Given the description of an element on the screen output the (x, y) to click on. 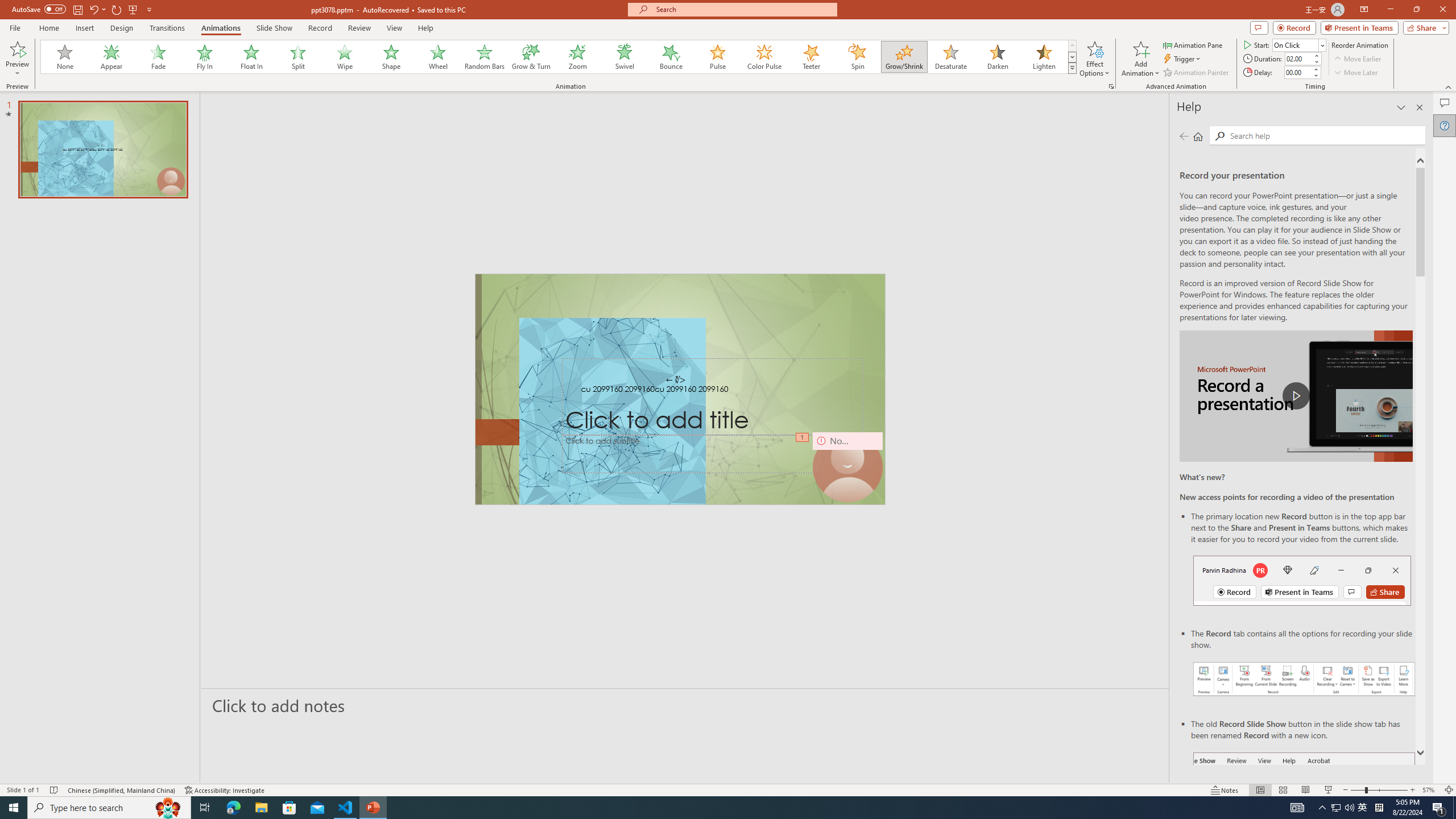
Swivel (624, 56)
Darken (997, 56)
Move Earlier (1357, 58)
Animation Painter (1196, 72)
